Given the description of an element on the screen output the (x, y) to click on. 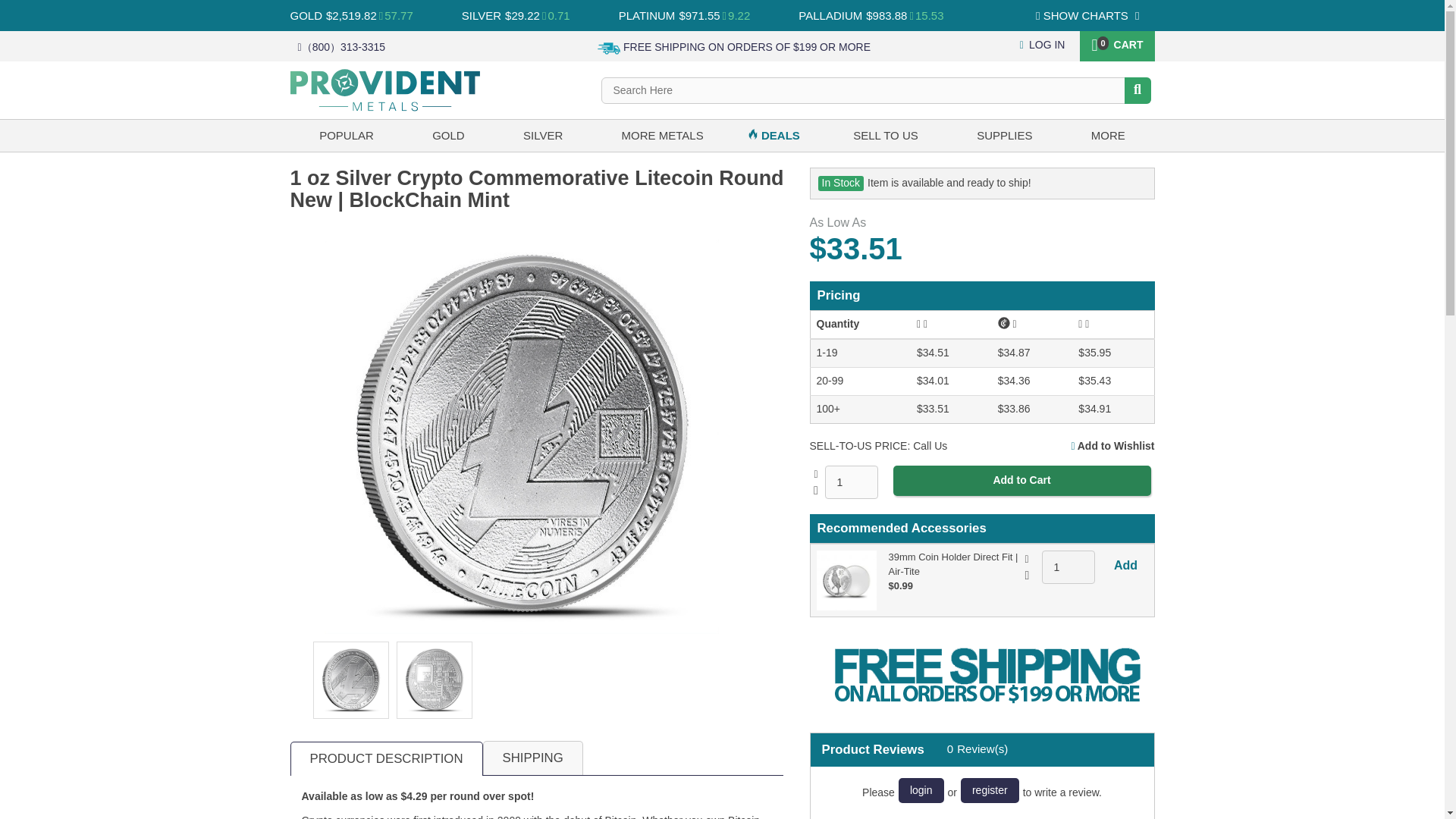
SILVER (480, 15)
LOG IN (1043, 44)
POPULAR (346, 134)
1 (851, 482)
PALLADIUM (829, 15)
Qty (1068, 566)
1 (1068, 566)
GOLD (305, 15)
PLATINUM (646, 15)
0CART (1116, 43)
